Given the description of an element on the screen output the (x, y) to click on. 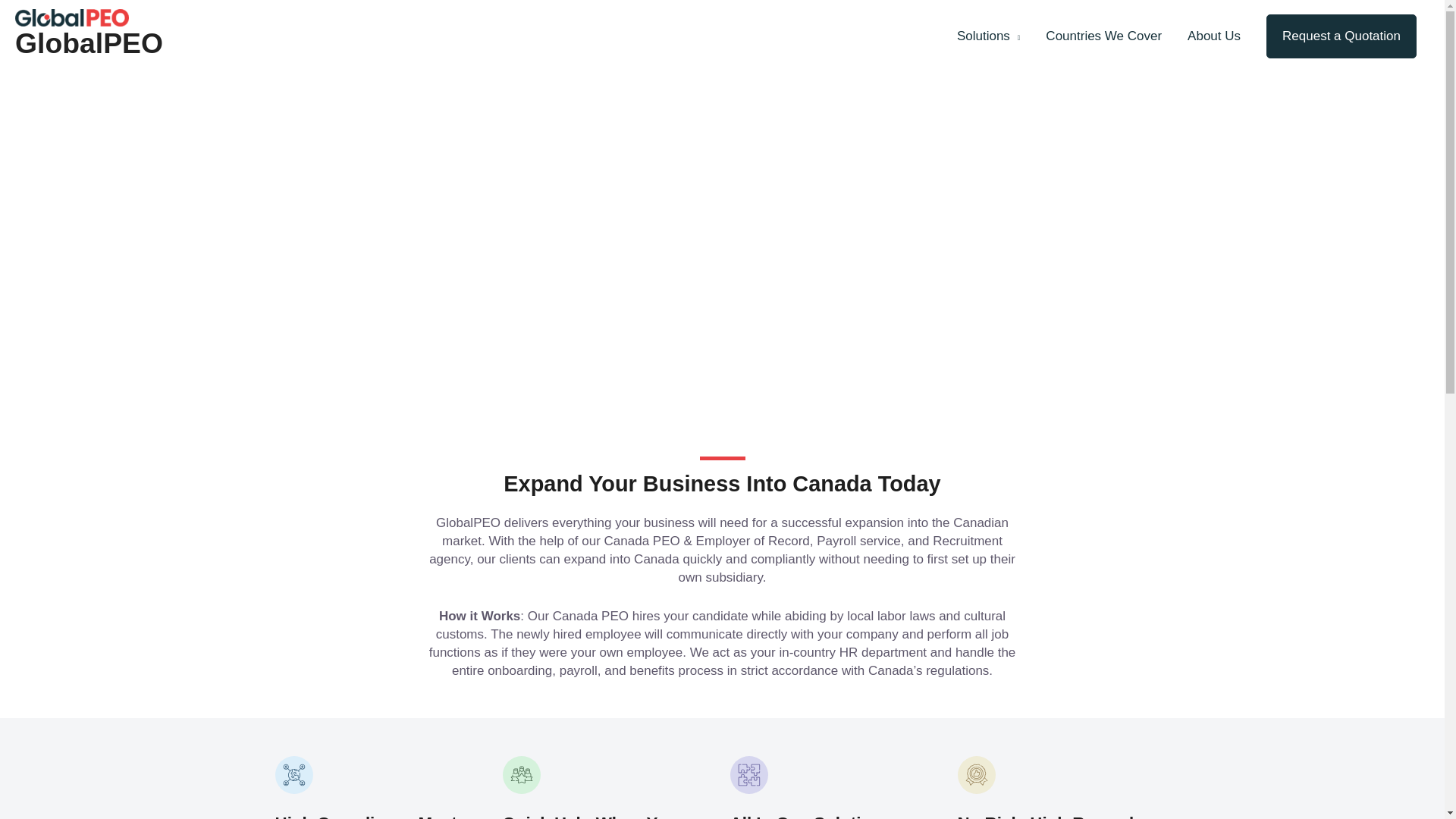
Quick Help When You Need It Most (589, 816)
About Us (1213, 36)
All In One Solution (835, 816)
No Risk. High Reward (1045, 816)
Request a Quotation (1341, 36)
GlobalPEO (88, 42)
Solutions (987, 36)
Countries We Cover (1103, 36)
High Compliance Meets Affordability (370, 816)
